Given the description of an element on the screen output the (x, y) to click on. 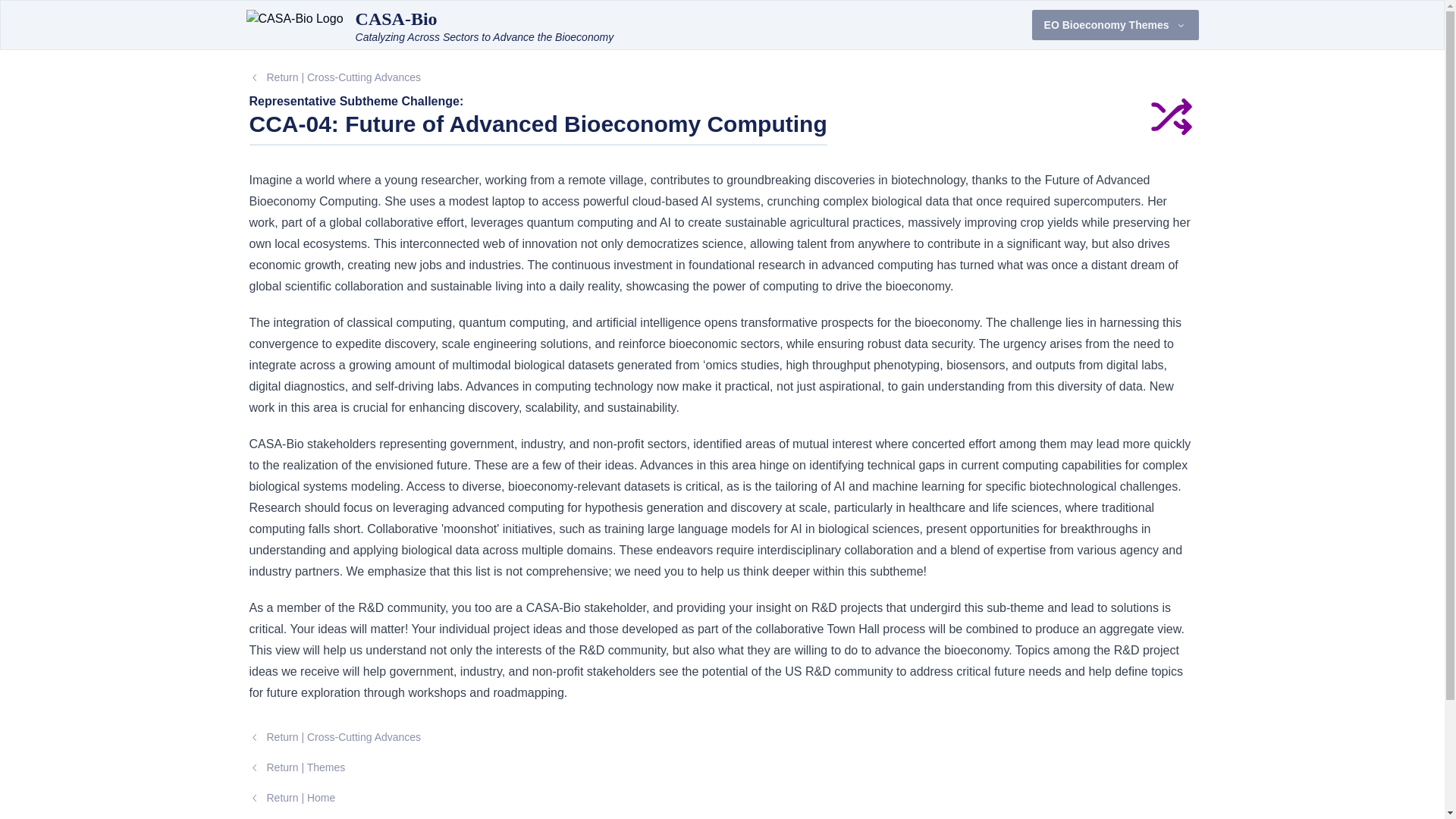
CASA-Bio (396, 18)
EO Bioeconomy Themes (1115, 24)
